Given the description of an element on the screen output the (x, y) to click on. 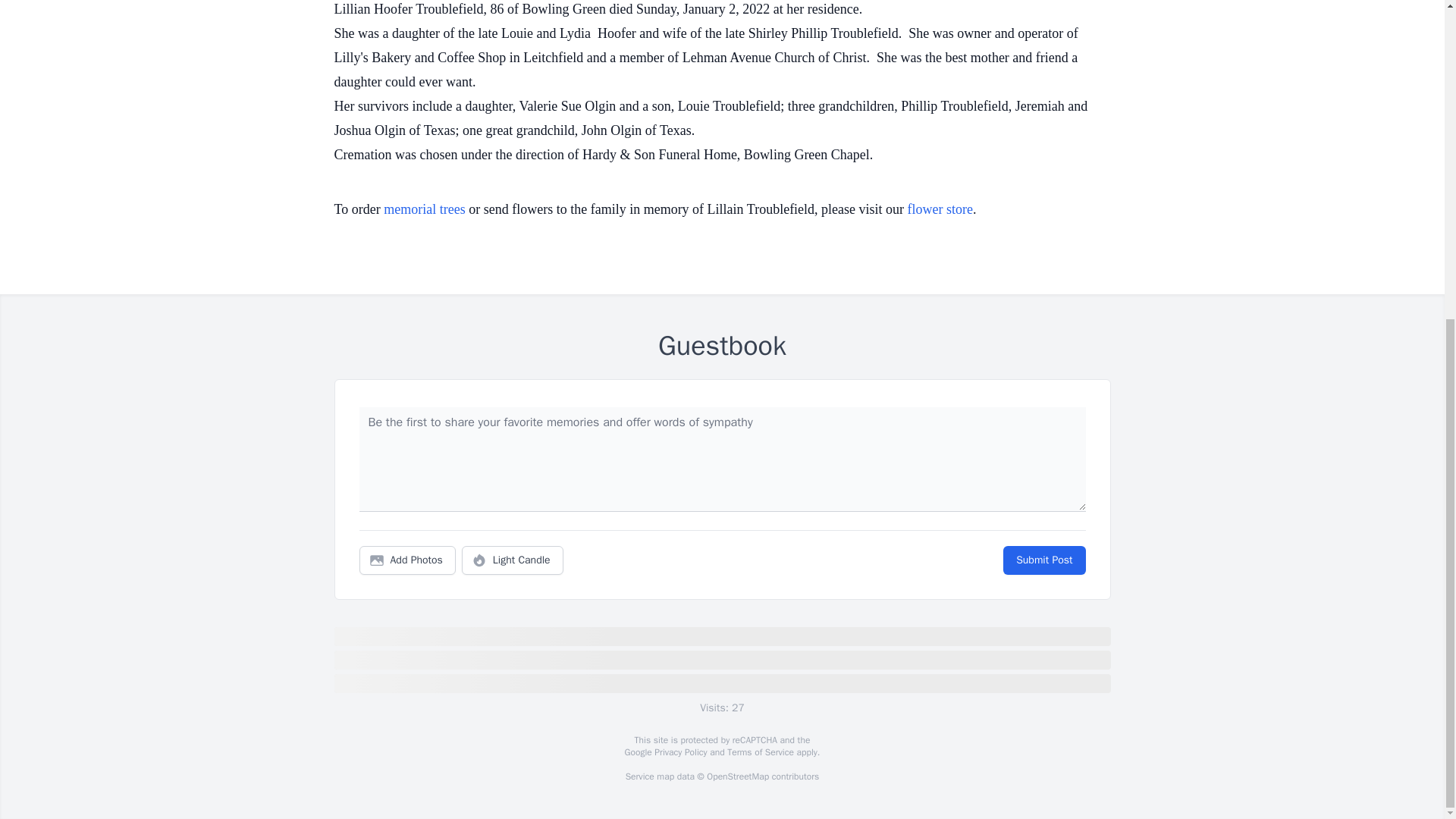
Add Photos (407, 560)
OpenStreetMap (737, 776)
flower store (939, 209)
Terms of Service (759, 752)
Light Candle (512, 560)
memorial trees (424, 209)
Submit Post (1043, 560)
Privacy Policy (679, 752)
